Given the description of an element on the screen output the (x, y) to click on. 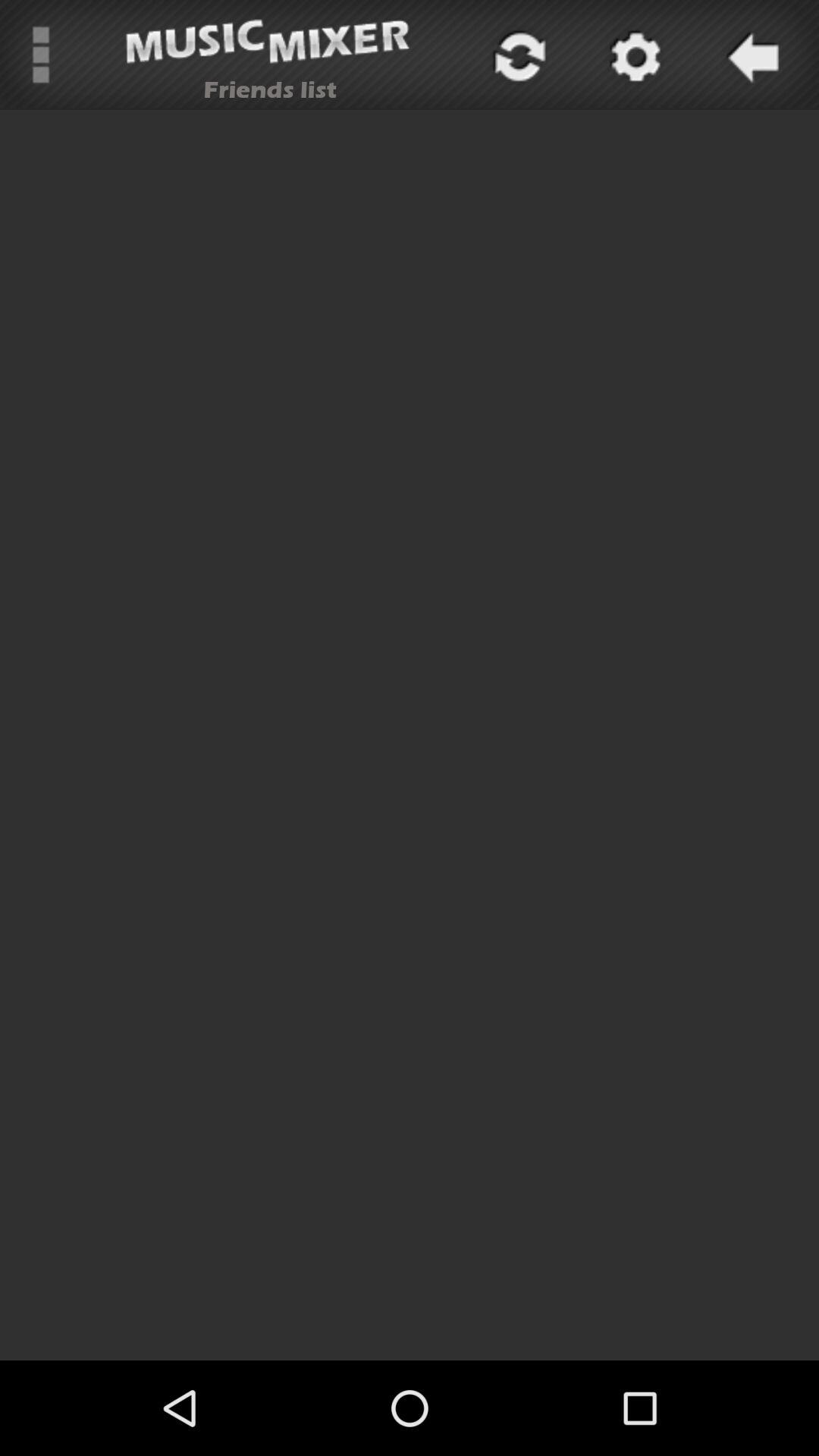
select icon next to the friends list item (516, 54)
